Given the description of an element on the screen output the (x, y) to click on. 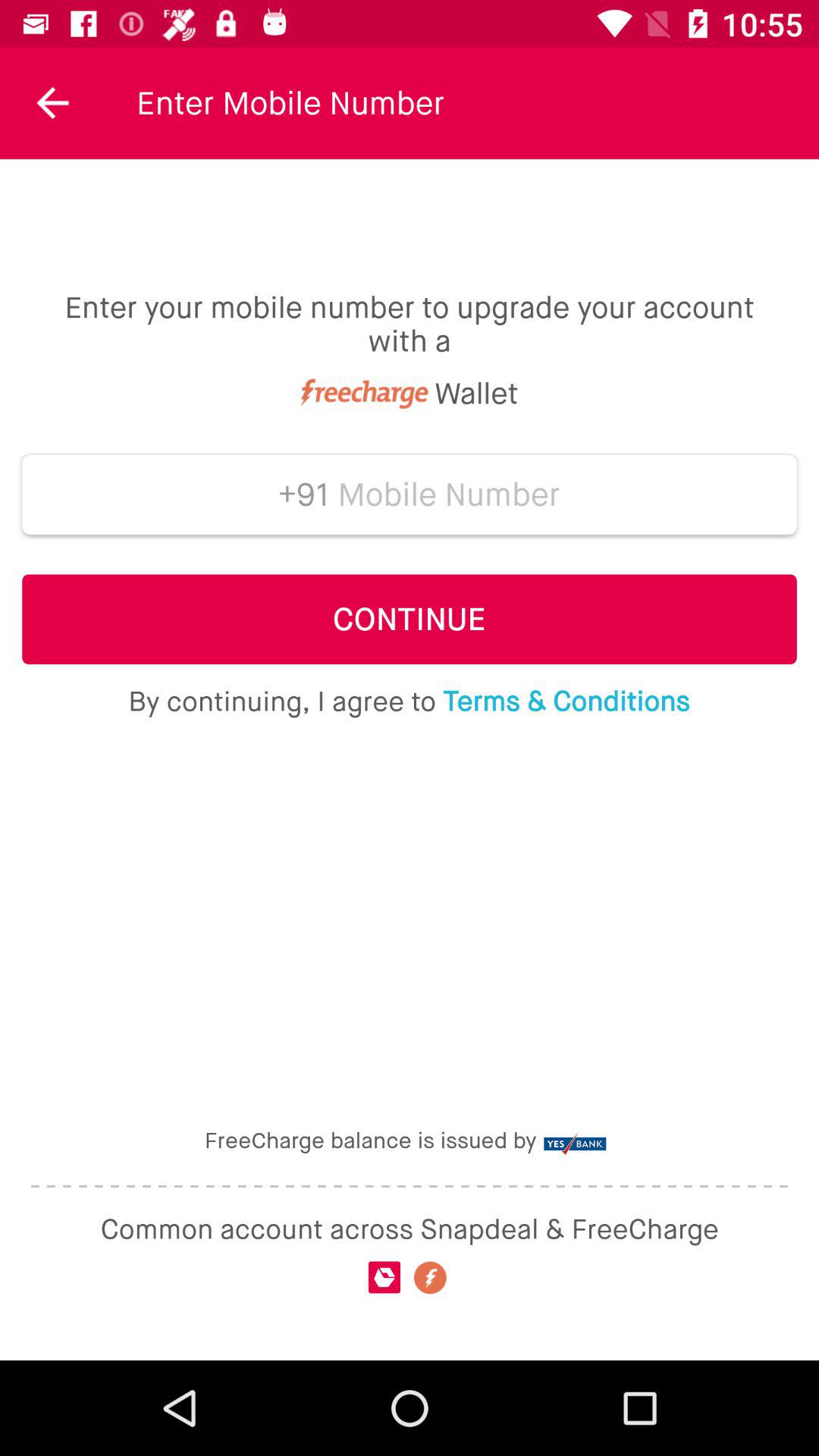
turn off item below the continue item (408, 701)
